Given the description of an element on the screen output the (x, y) to click on. 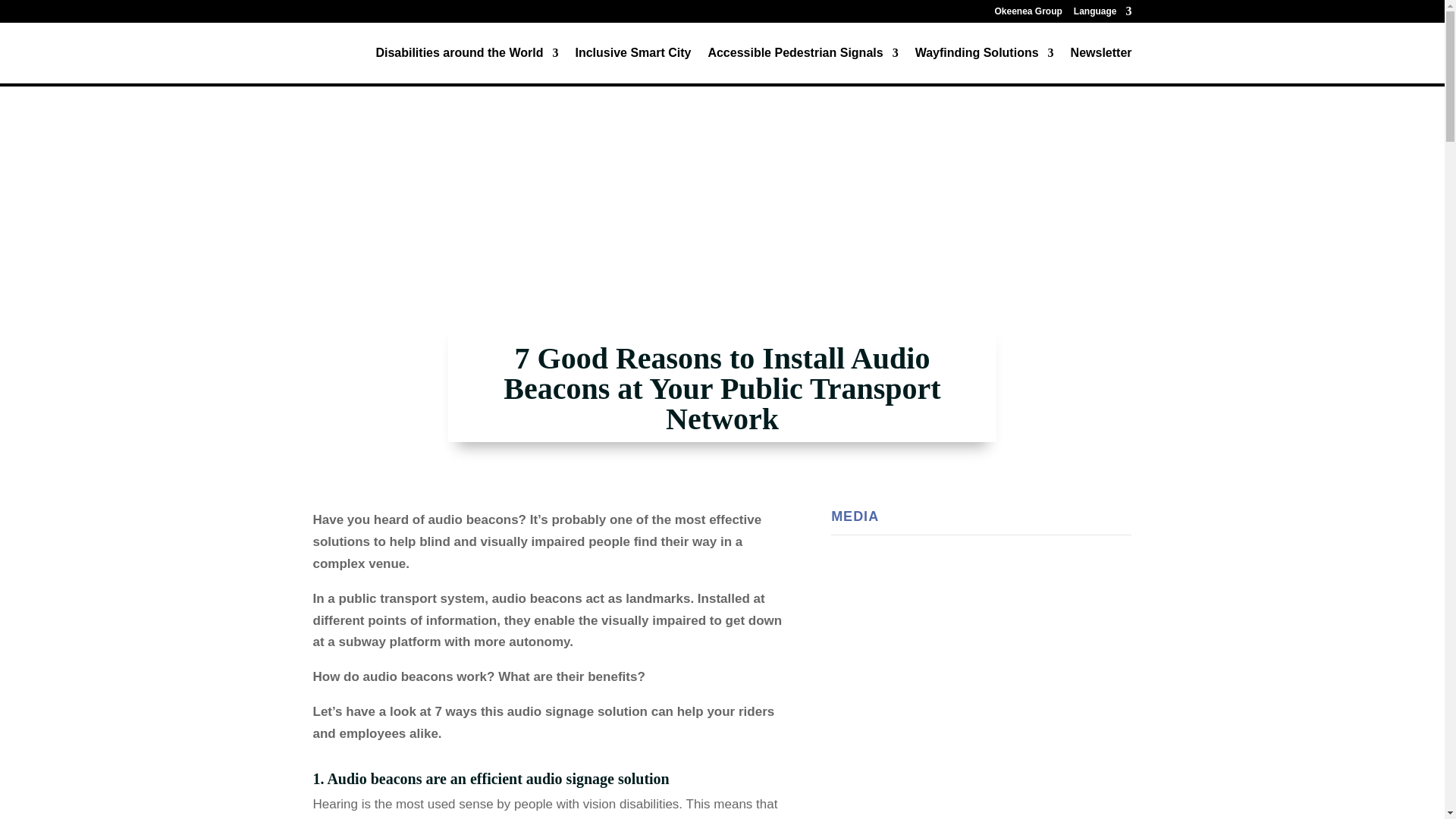
Wayfinding Solutions (984, 65)
Disabilities around the World (466, 65)
Accessible Pedestrian Signals (802, 65)
Newsletter (1101, 65)
Inclusive Smart City (632, 65)
Language (1103, 14)
audio-beacon-okeenea (981, 685)
Okeenea Group (1027, 14)
